Given the description of an element on the screen output the (x, y) to click on. 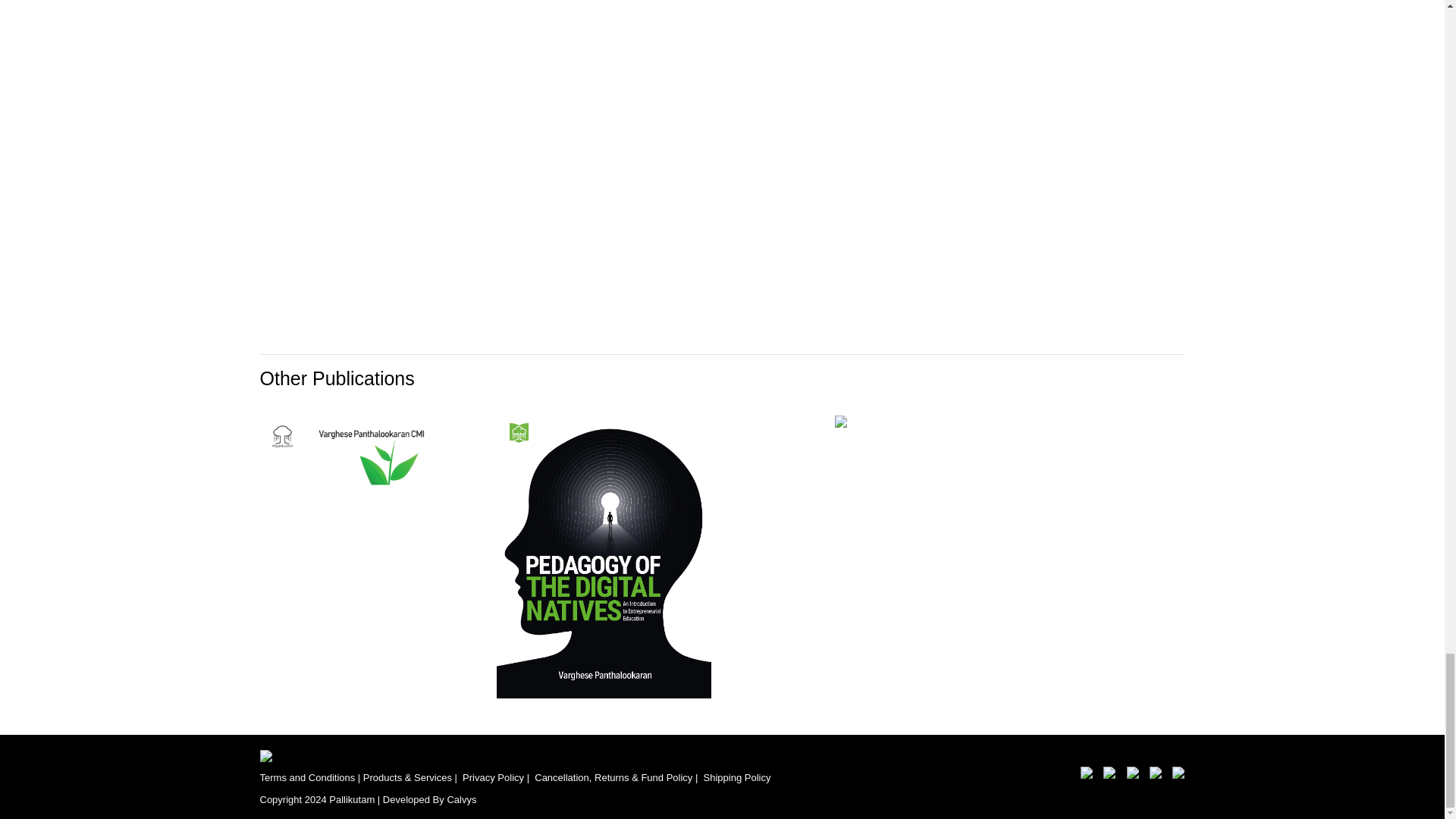
Terms and Conditions (307, 777)
Privacy Policy (493, 777)
Shipping Policy (737, 777)
Lessons for Well Being (840, 420)
Pedagogy of the Digital Natives (603, 554)
Condemned to be Creative (366, 554)
